Given the description of an element on the screen output the (x, y) to click on. 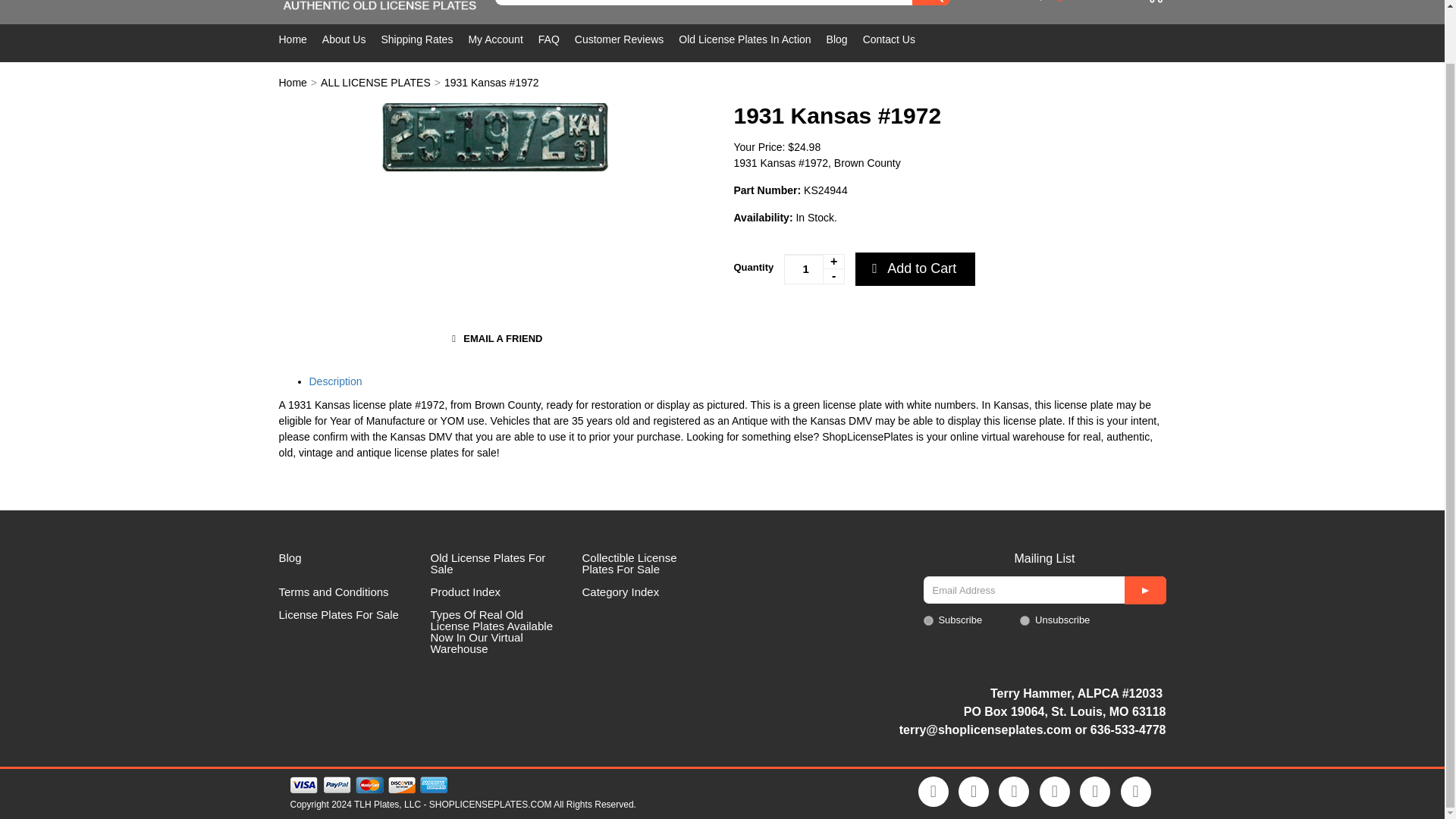
Follow Us on Pinterest (1013, 791)
Contact Us (896, 39)
0 (1154, 11)
Subscribe to our Blog (1136, 791)
Shipping Rates (423, 39)
FAQ (556, 39)
Description (335, 381)
Follow Us on Instagram (1054, 791)
1 (928, 620)
Login? (1061, 0)
Customer Reviews (626, 39)
Follow Us on Tumblr (1094, 791)
Add to Cart (915, 268)
0 (1024, 620)
My Account (502, 39)
